Given the description of an element on the screen output the (x, y) to click on. 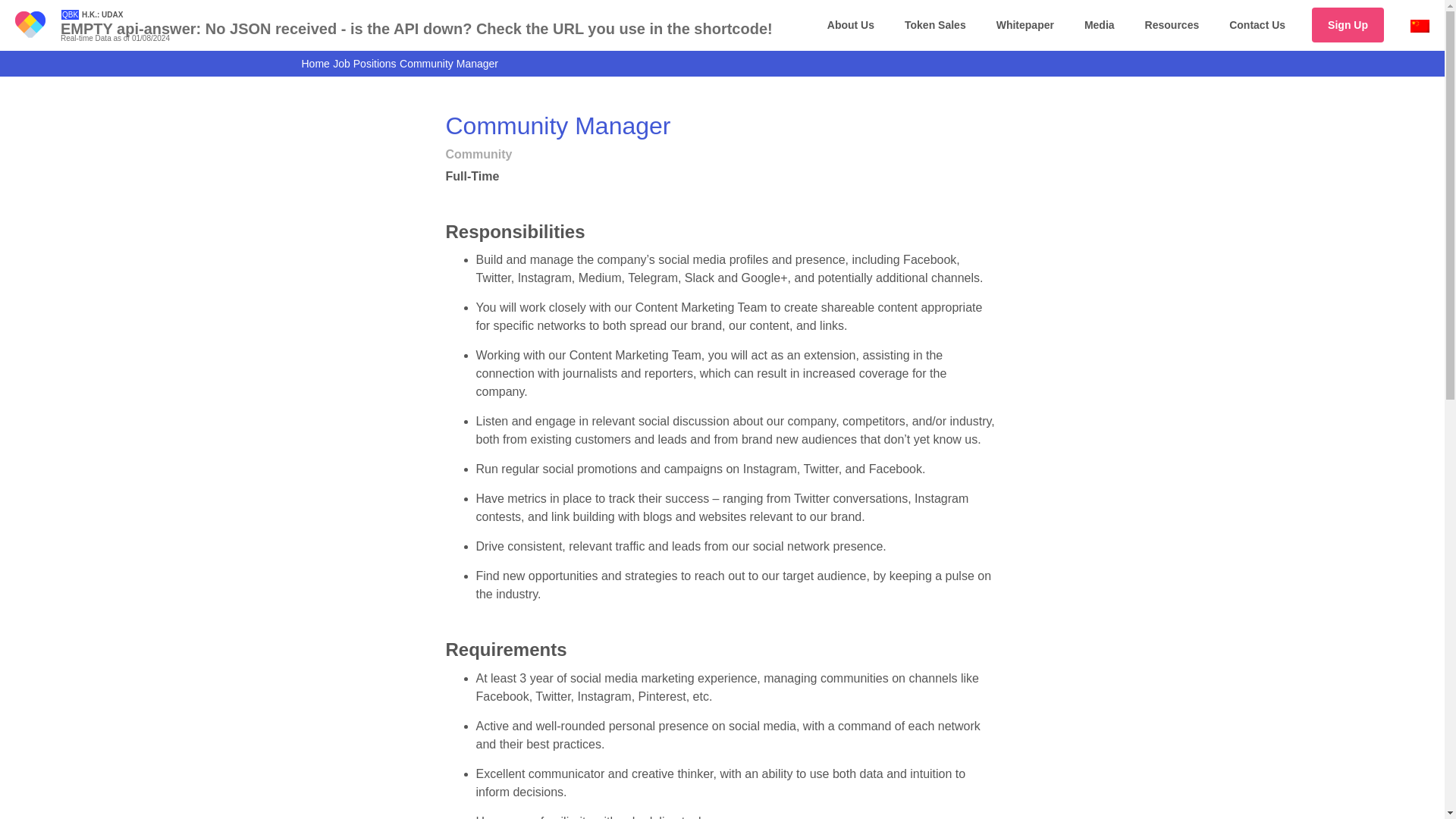
H.K.: UDAX (101, 14)
Whitepaper (1024, 24)
Token Sales (935, 24)
Job Positions (364, 63)
Resources (1171, 24)
Community Manager (447, 63)
Contact Us (1257, 24)
Home (315, 63)
Media (1098, 24)
About Us (850, 24)
Sign Up (1347, 24)
